Given the description of an element on the screen output the (x, y) to click on. 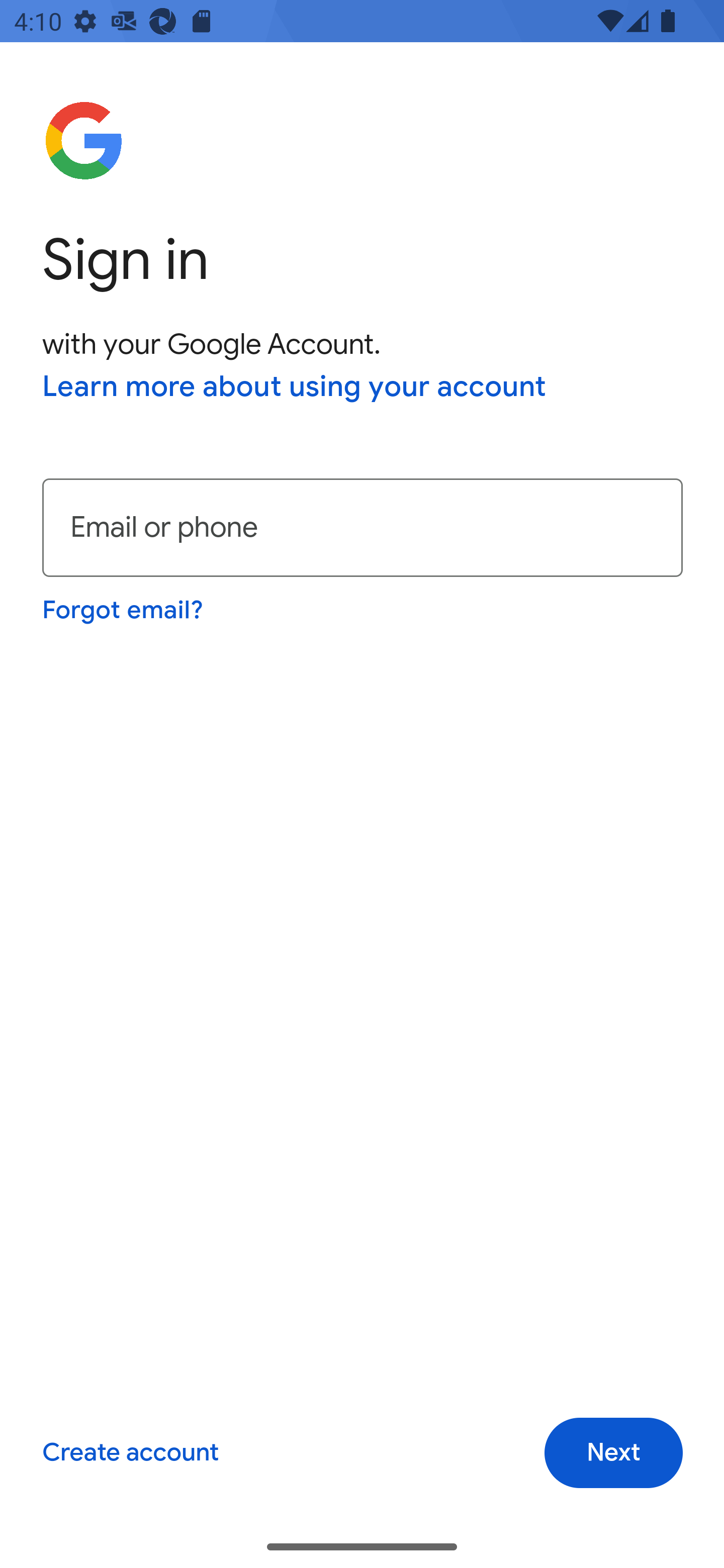
Learn more about using your account (294, 388)
Forgot email? (123, 609)
Next (613, 1453)
Create account (129, 1453)
